Given the description of an element on the screen output the (x, y) to click on. 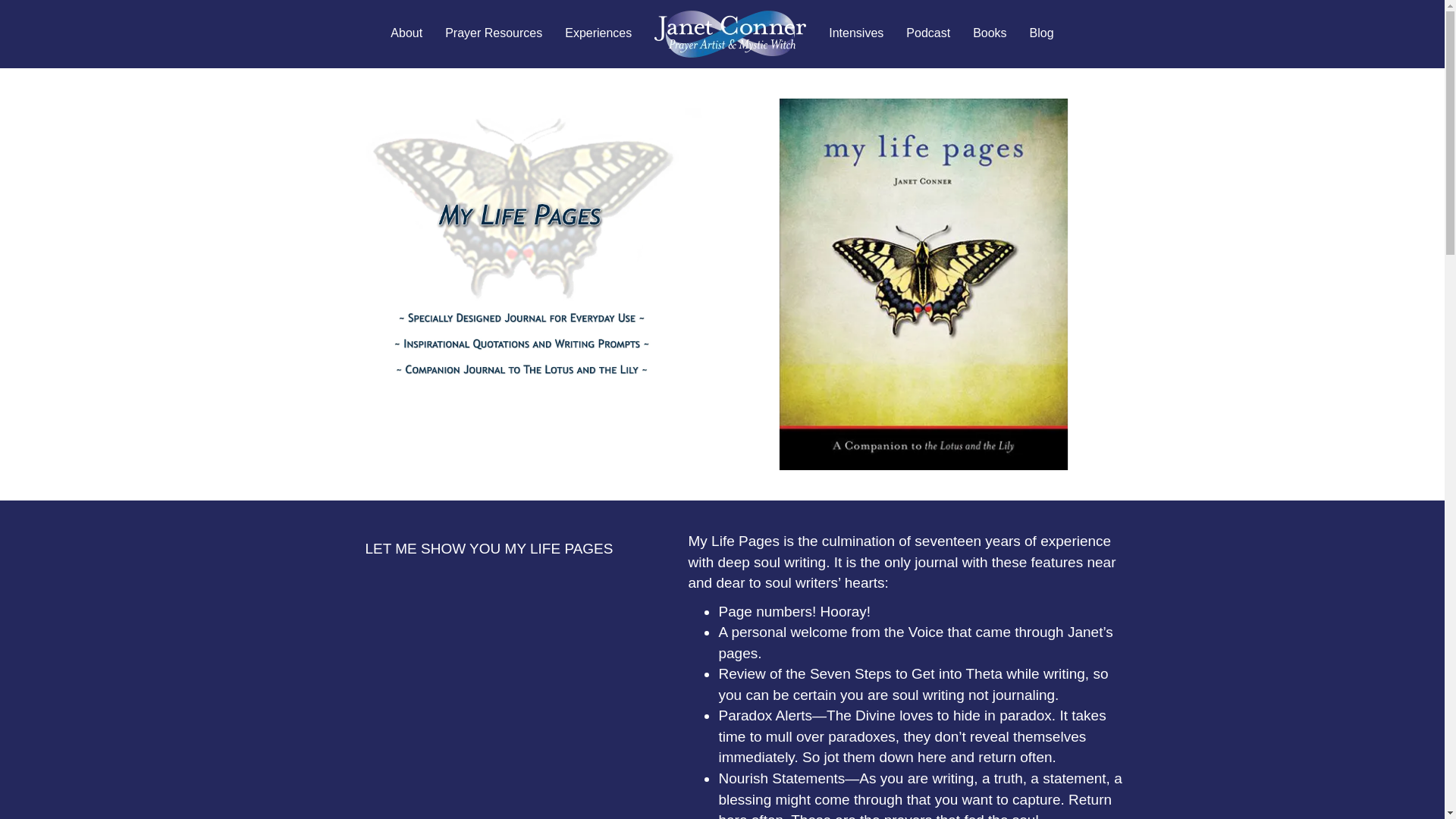
MLP Header 1 (520, 247)
Prayer Resources (493, 33)
About (405, 33)
Podcast (927, 33)
Blog (1041, 33)
Intensives (855, 33)
Experiences (598, 33)
Books (988, 33)
